Given the description of an element on the screen output the (x, y) to click on. 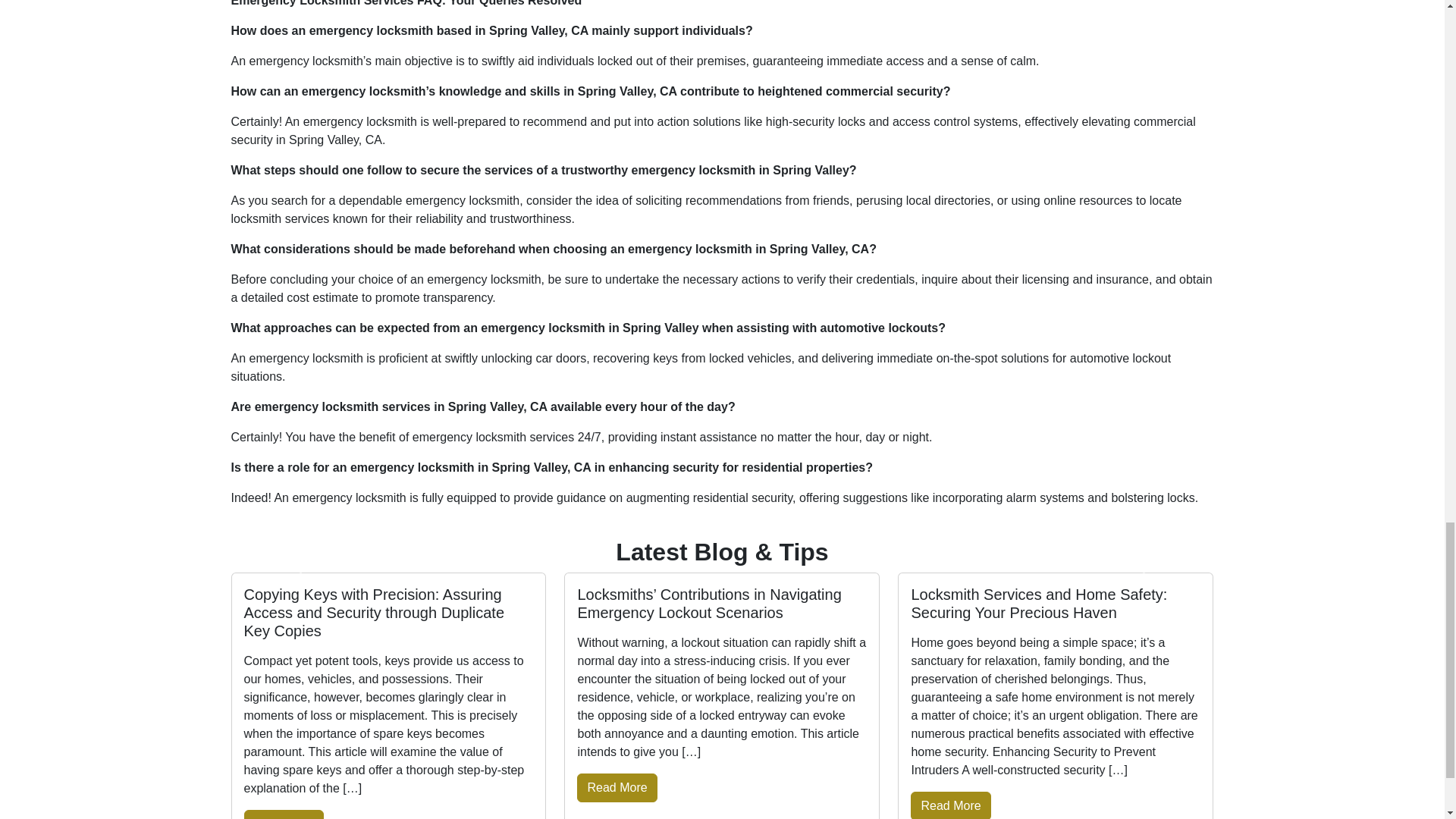
Read More (616, 787)
Read More (283, 814)
Read More (950, 805)
